Given the description of an element on the screen output the (x, y) to click on. 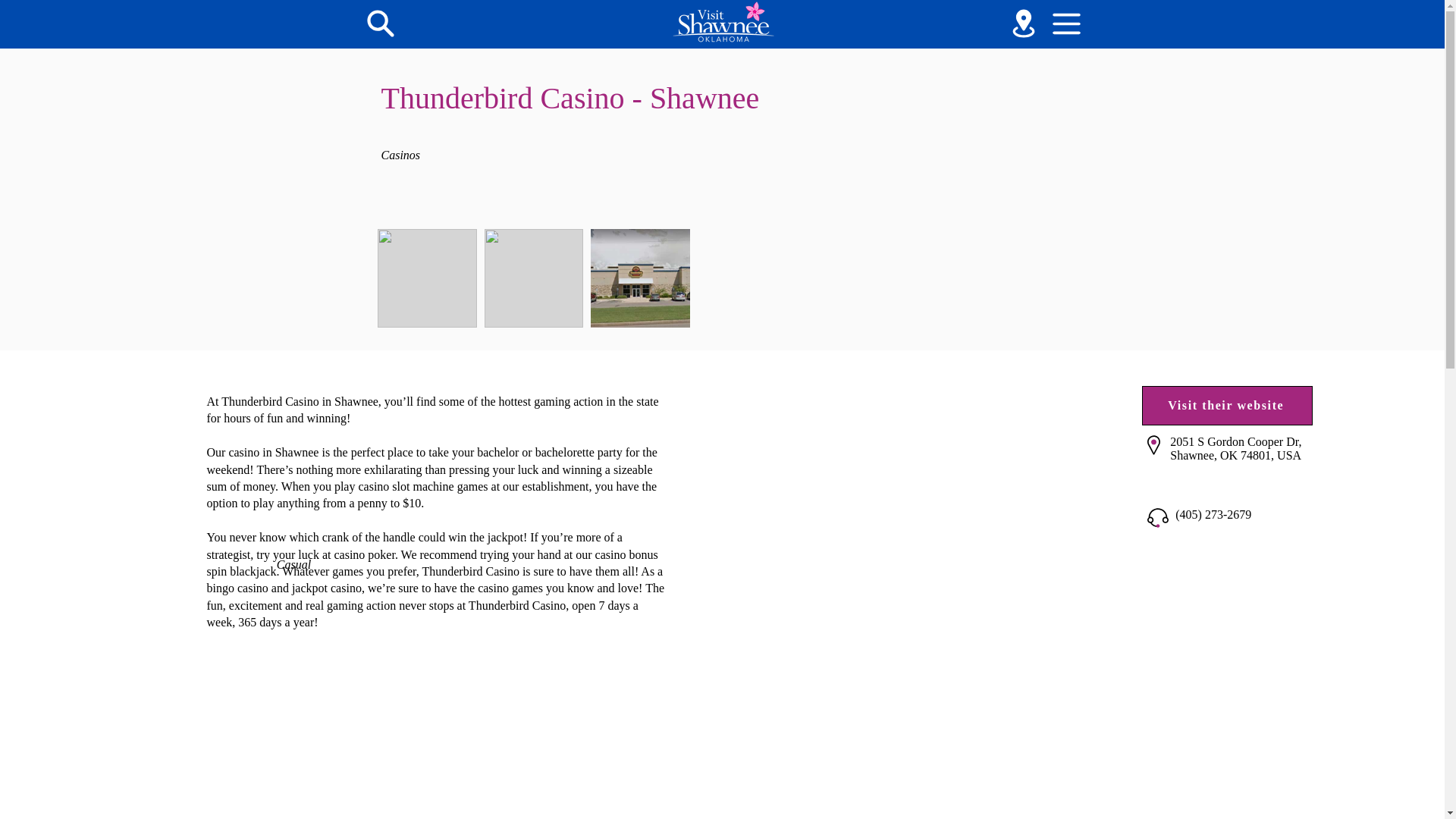
Visit their website (1227, 405)
